Given the description of an element on the screen output the (x, y) to click on. 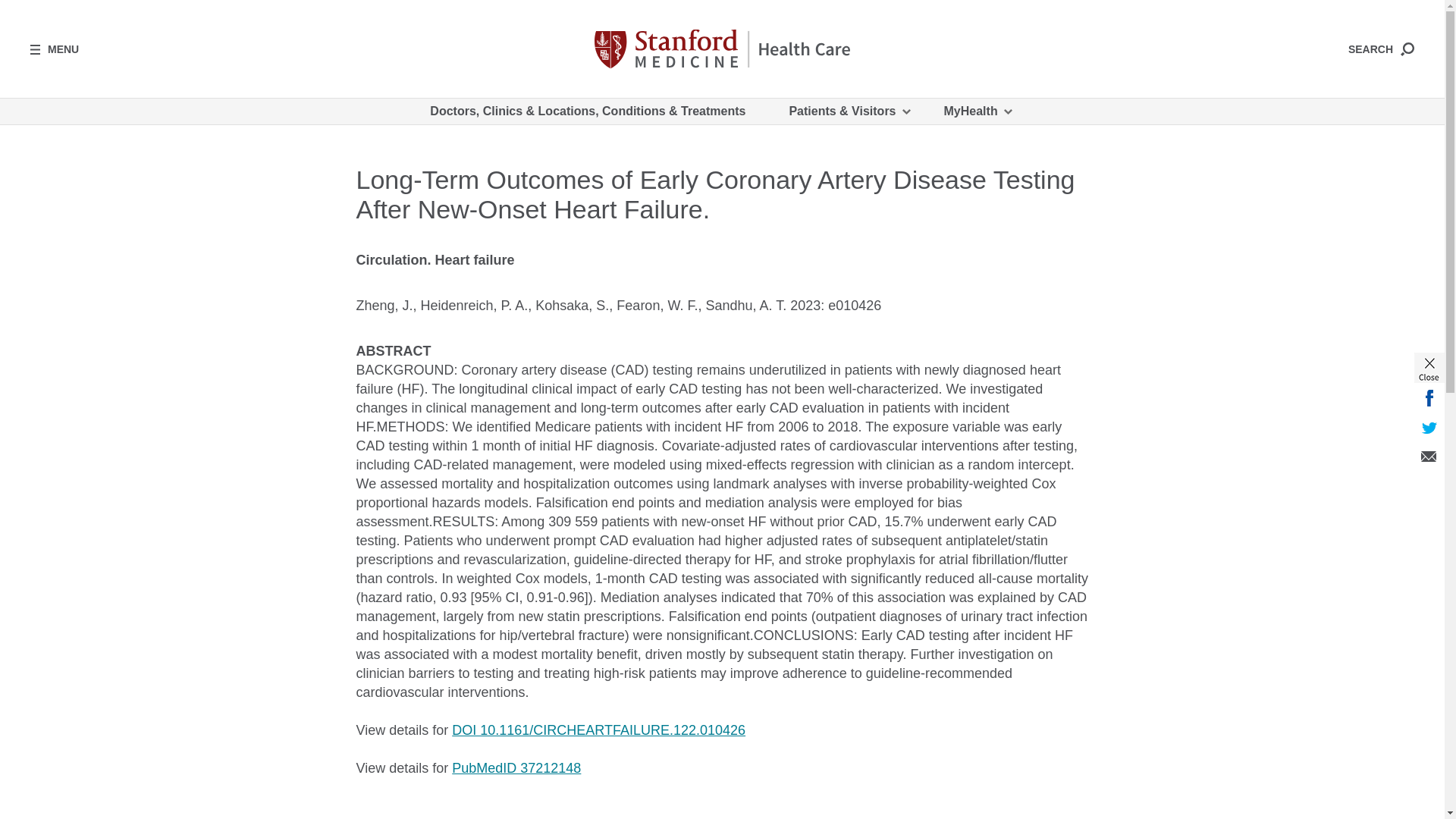
SEARCH (1380, 49)
MyHealth (976, 110)
MENU (54, 49)
